Given the description of an element on the screen output the (x, y) to click on. 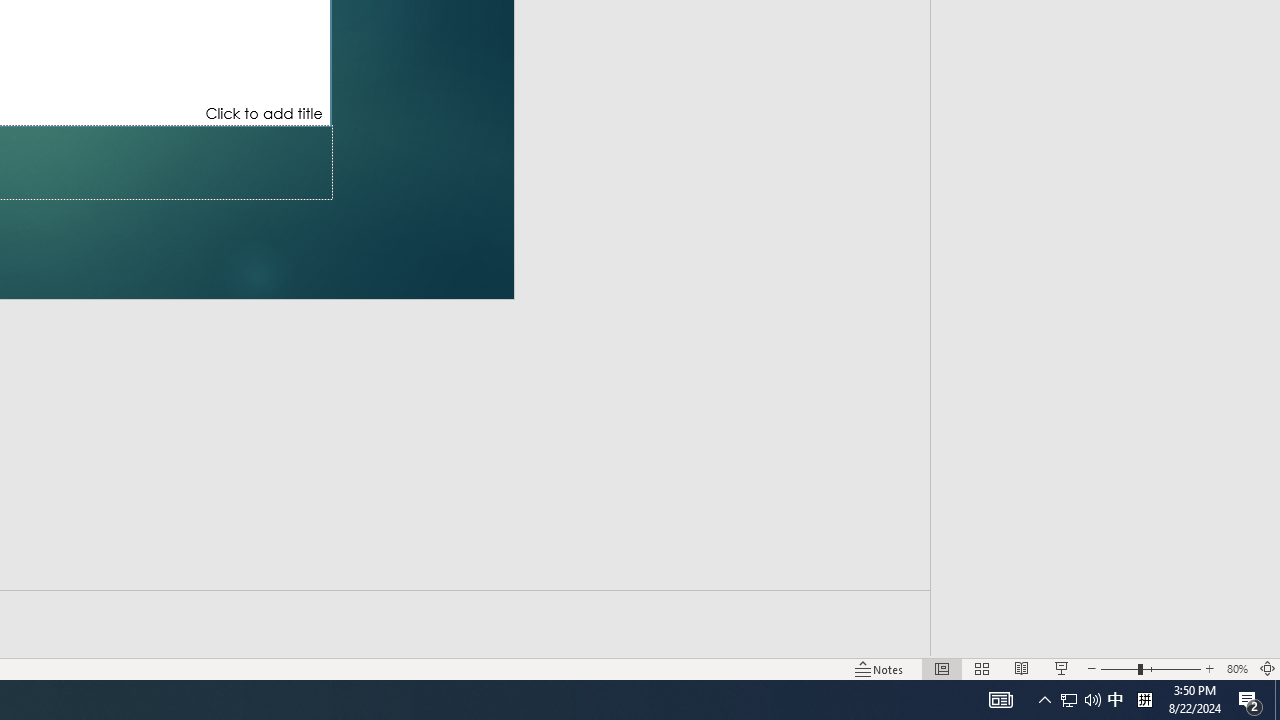
Zoom 80% (1236, 668)
